Given the description of an element on the screen output the (x, y) to click on. 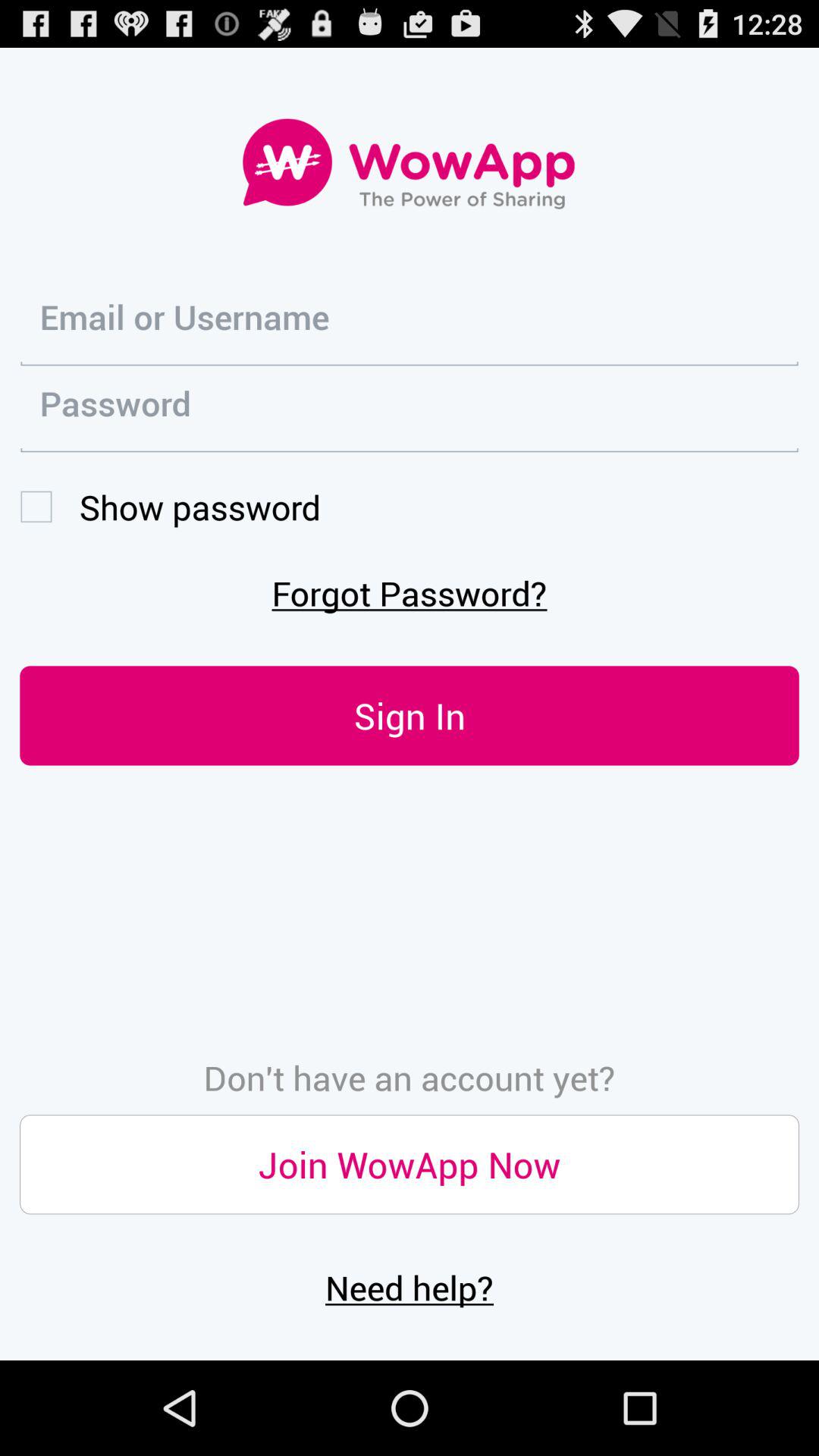
turn on the icon below the join wowapp now (409, 1287)
